Given the description of an element on the screen output the (x, y) to click on. 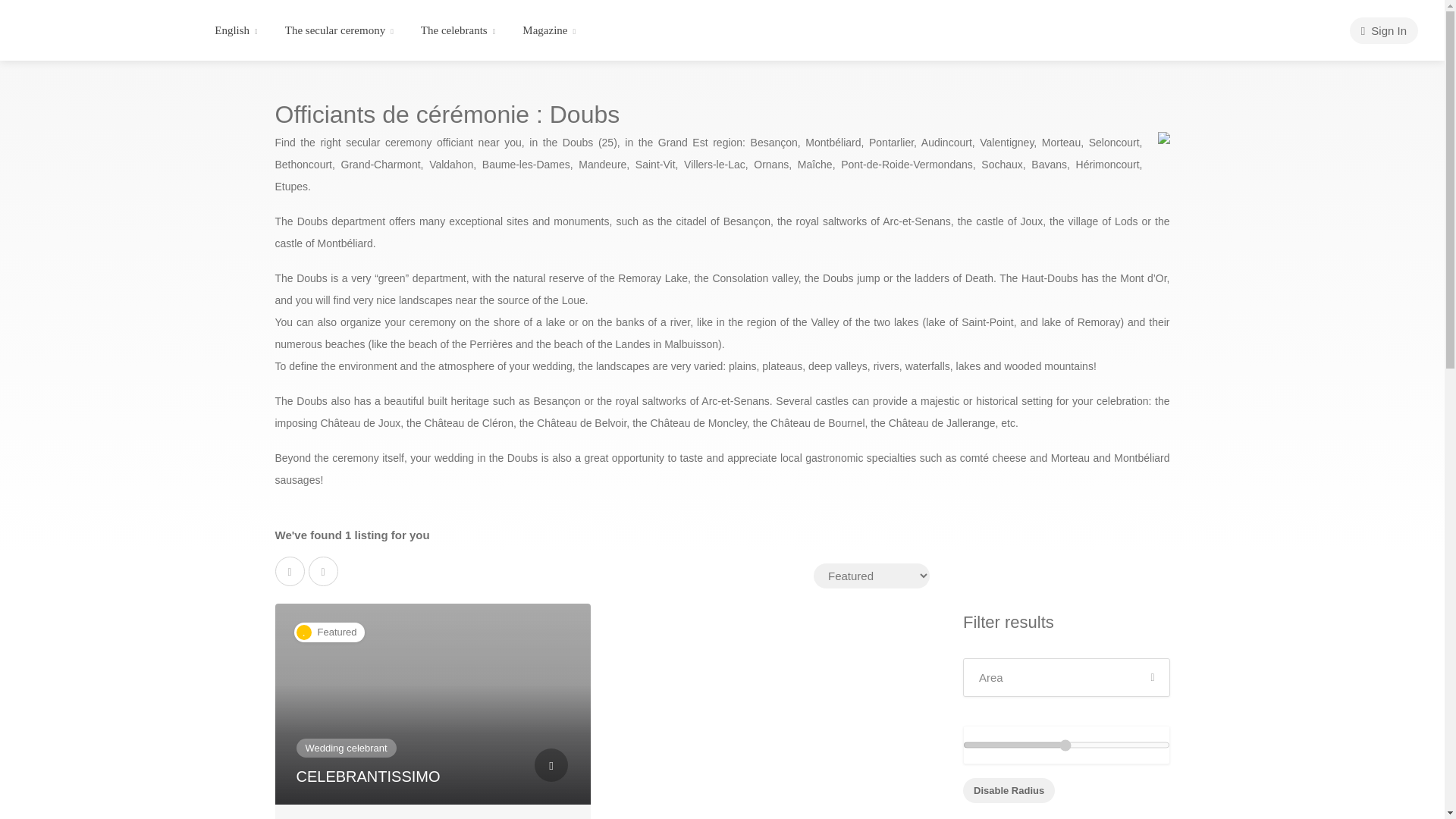
50 (1066, 744)
Login To Bookmark Items (550, 765)
English (227, 30)
English (227, 30)
